Given the description of an element on the screen output the (x, y) to click on. 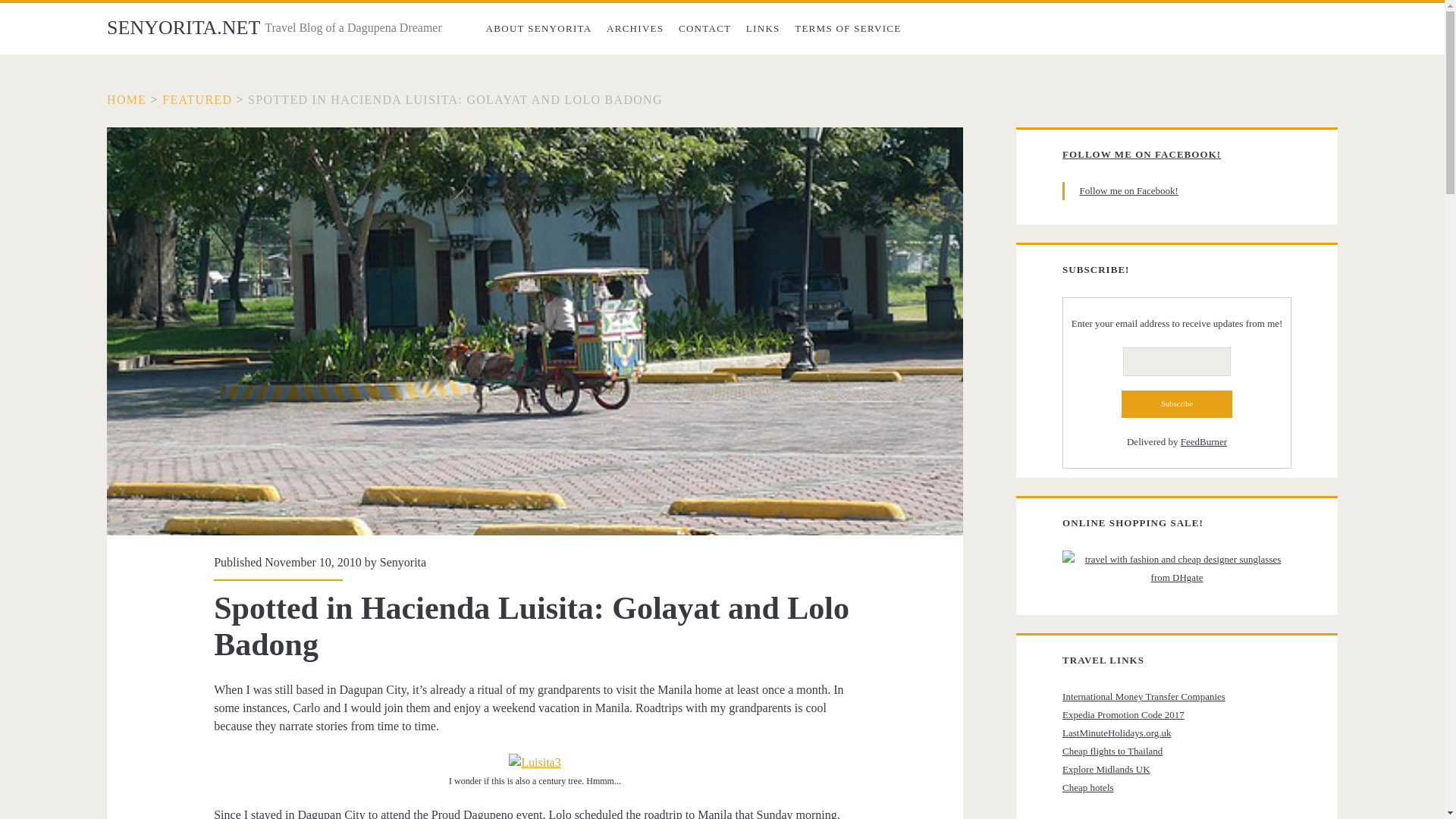
SENYORITA.NET (183, 27)
TERMS OF SERVICE (847, 28)
CONTACT (704, 28)
ARCHIVES (634, 28)
HOME (126, 99)
Luisita3 by micamyx, on Flickr (534, 762)
FEATURED (196, 99)
Spotted in Hacienda Luisita: Golayat and Lolo Badong (454, 99)
Home (126, 99)
ABOUT SENYORITA (538, 28)
